Given the description of an element on the screen output the (x, y) to click on. 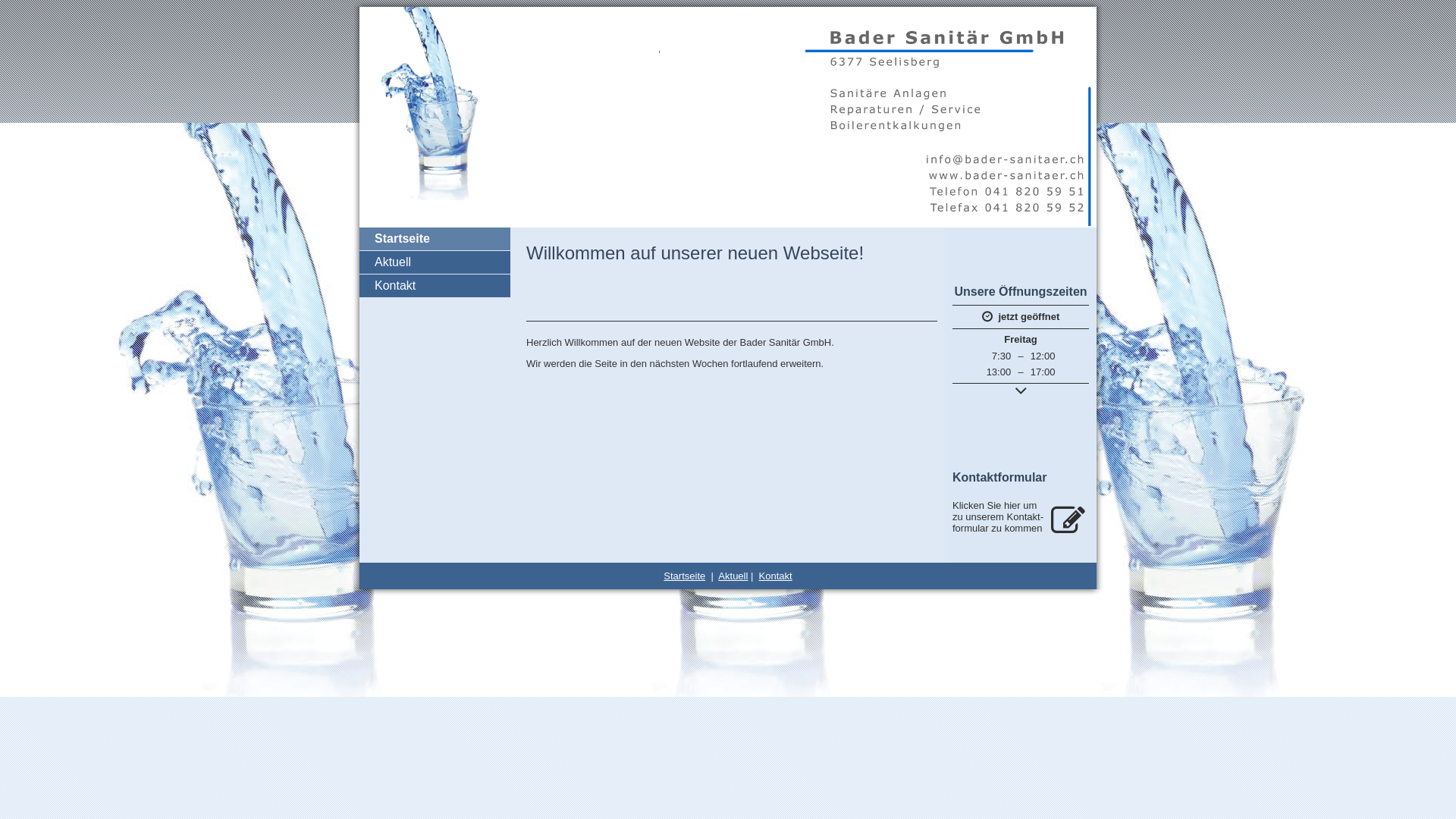
Kontakt Element type: text (775, 575)
Kontakt Element type: text (434, 285)
Aktuell Element type: text (434, 262)
Startseite Element type: text (684, 575)
Aktuell Element type: text (732, 575)
Startseite Element type: text (434, 238)
